Given the description of an element on the screen output the (x, y) to click on. 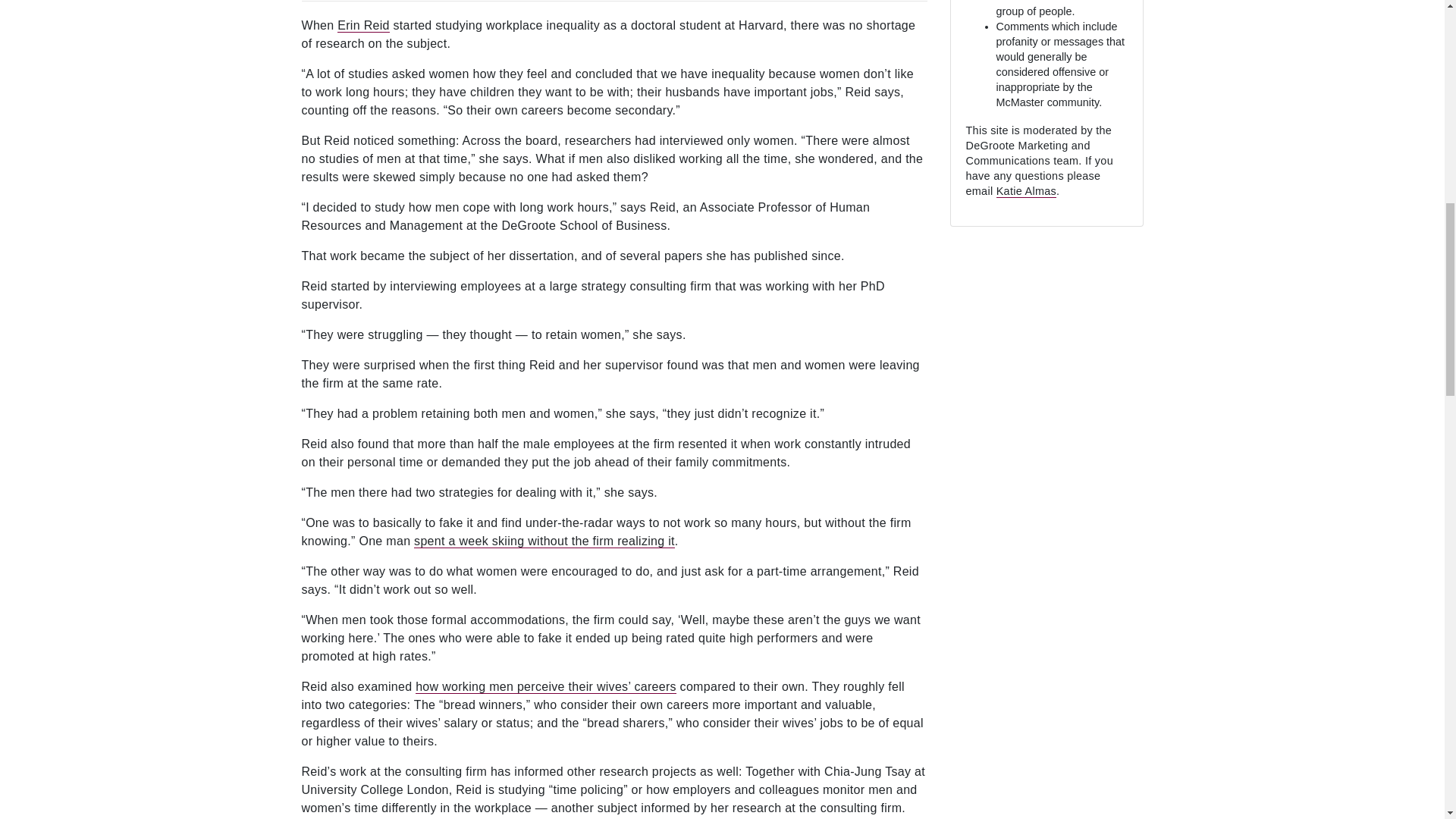
Erin Reid (363, 25)
